Given the description of an element on the screen output the (x, y) to click on. 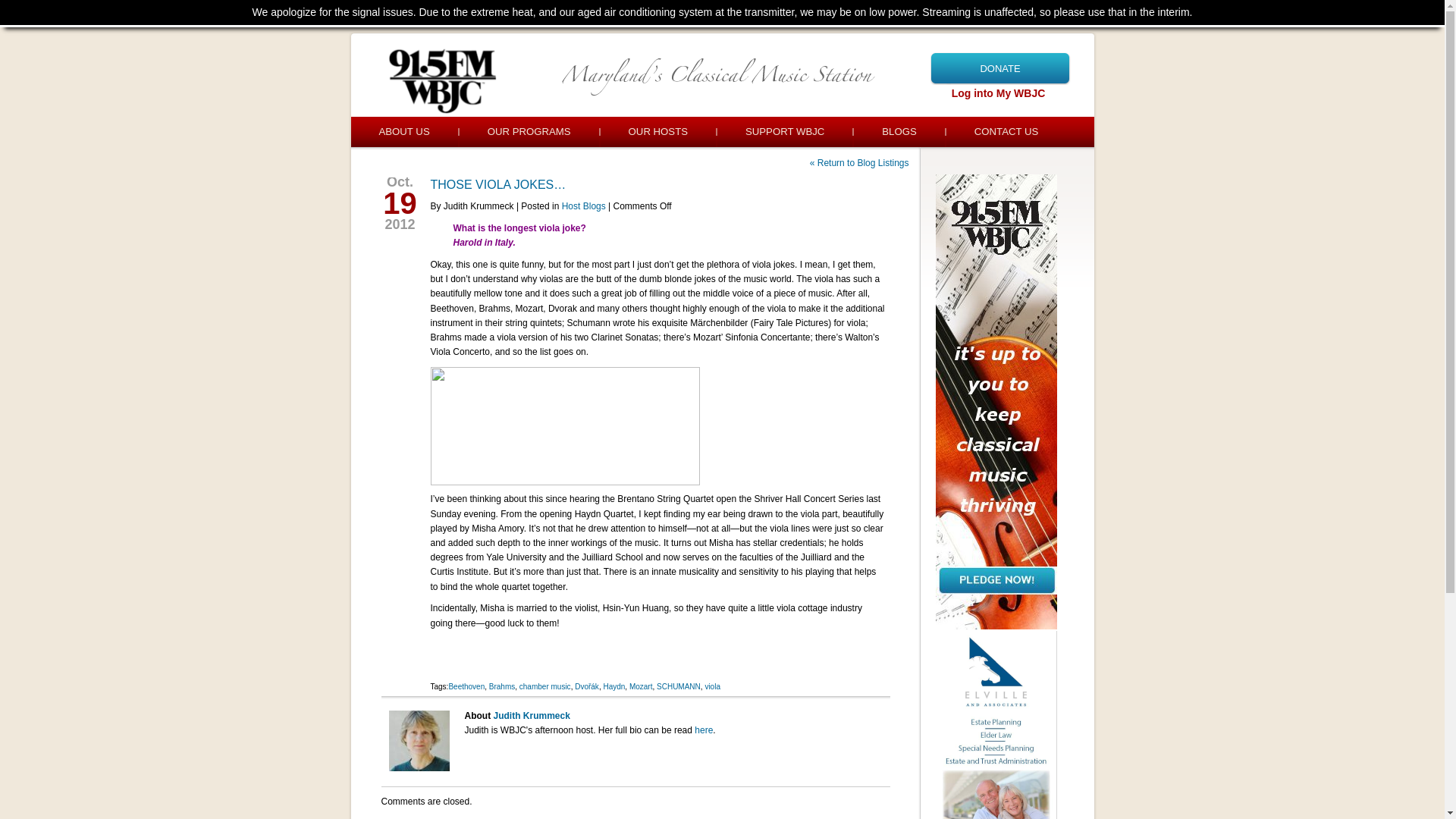
OUR HOSTS (657, 132)
ABOUT US (403, 132)
OUR PROGRAMS (529, 132)
Log into My WBJC (997, 93)
SUPPORT WBJC (784, 132)
Posts by Judith Krummeck (531, 715)
DONATE (1000, 68)
